Given the description of an element on the screen output the (x, y) to click on. 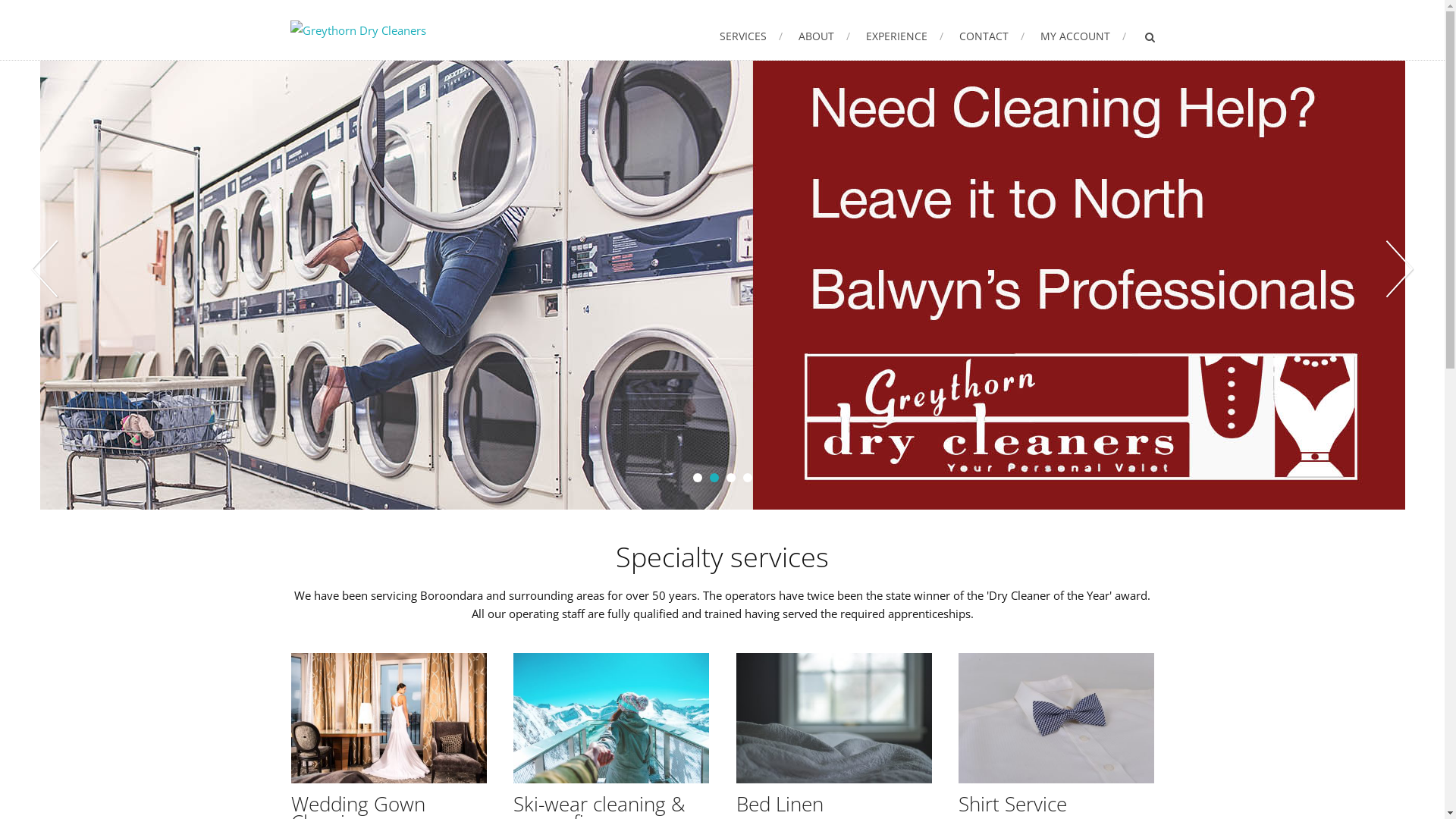
Bed Linen Element type: text (779, 803)
ABOUT Element type: text (823, 35)
EXPERIENCE Element type: text (904, 35)
3 Element type: text (730, 477)
Shirt Service Element type: text (1012, 803)
1 Element type: text (697, 477)
MY ACCOUNT Element type: text (1083, 35)
2 Element type: text (713, 477)
CONTACT Element type: text (990, 35)
Next Element type: text (1398, 268)
SERVICES Element type: text (749, 35)
Prev Element type: text (45, 268)
4 Element type: text (747, 477)
